Given the description of an element on the screen output the (x, y) to click on. 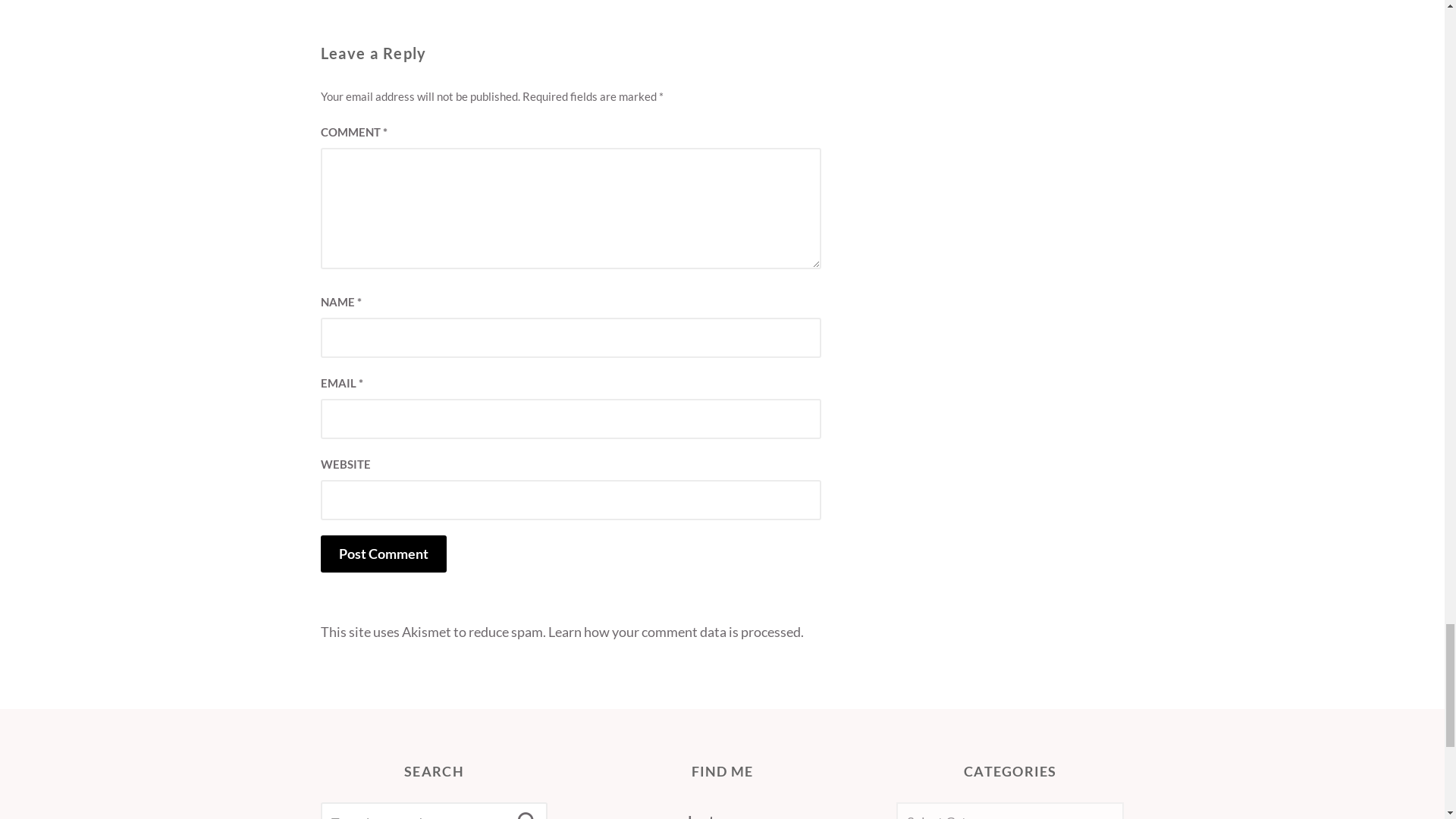
Press Enter to submit your search (433, 810)
Post Comment (382, 554)
Post Comment (382, 554)
Learn how your comment data is processed (673, 631)
